Given the description of an element on the screen output the (x, y) to click on. 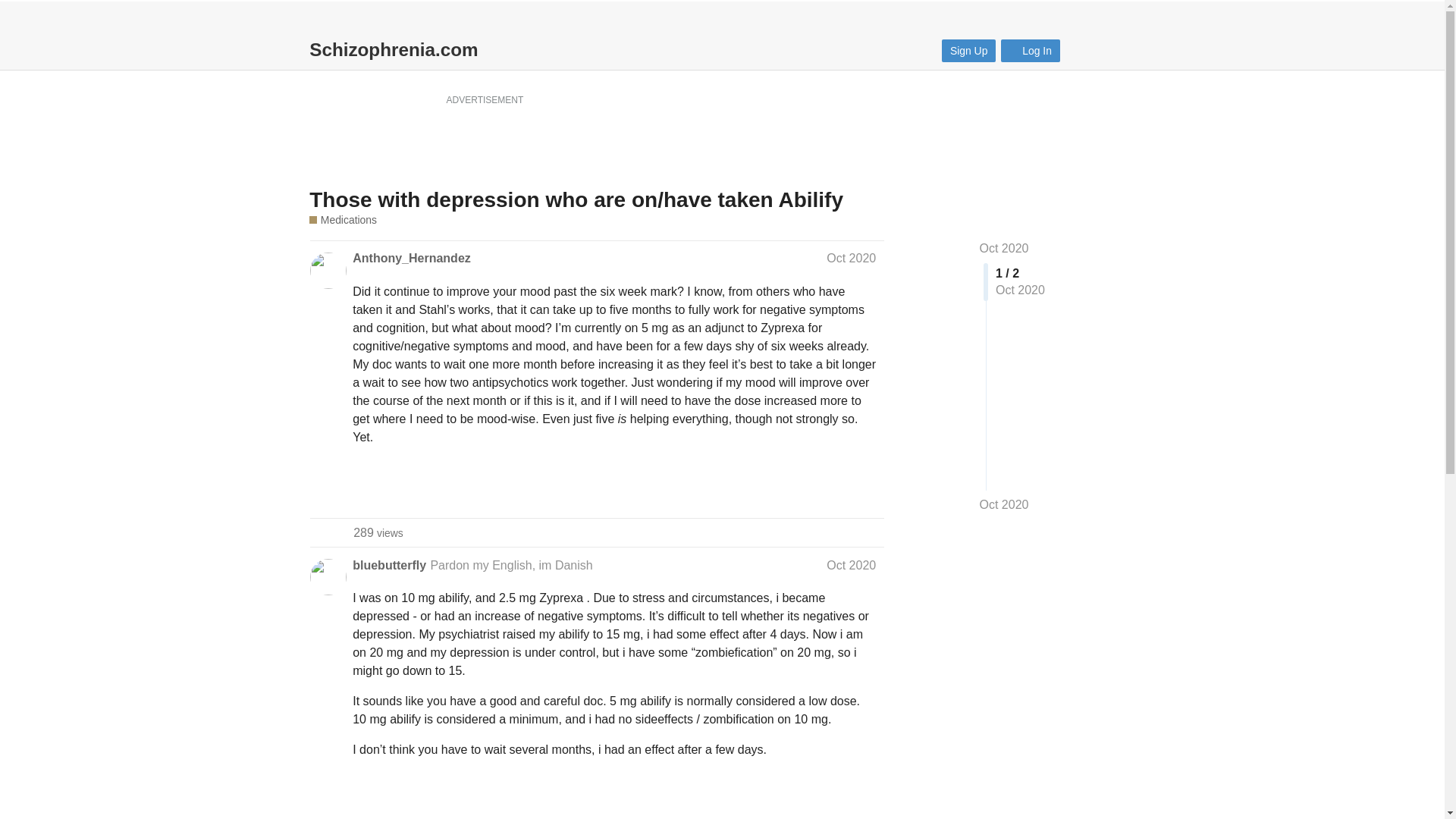
bluebutterfly (389, 565)
Search (377, 532)
Schizophrenia.com (1082, 49)
Jump to the first post (392, 49)
Sign Up (1004, 247)
like this post (968, 50)
Oct 2020 (835, 489)
menu (1004, 504)
like this post (1117, 49)
